Given the description of an element on the screen output the (x, y) to click on. 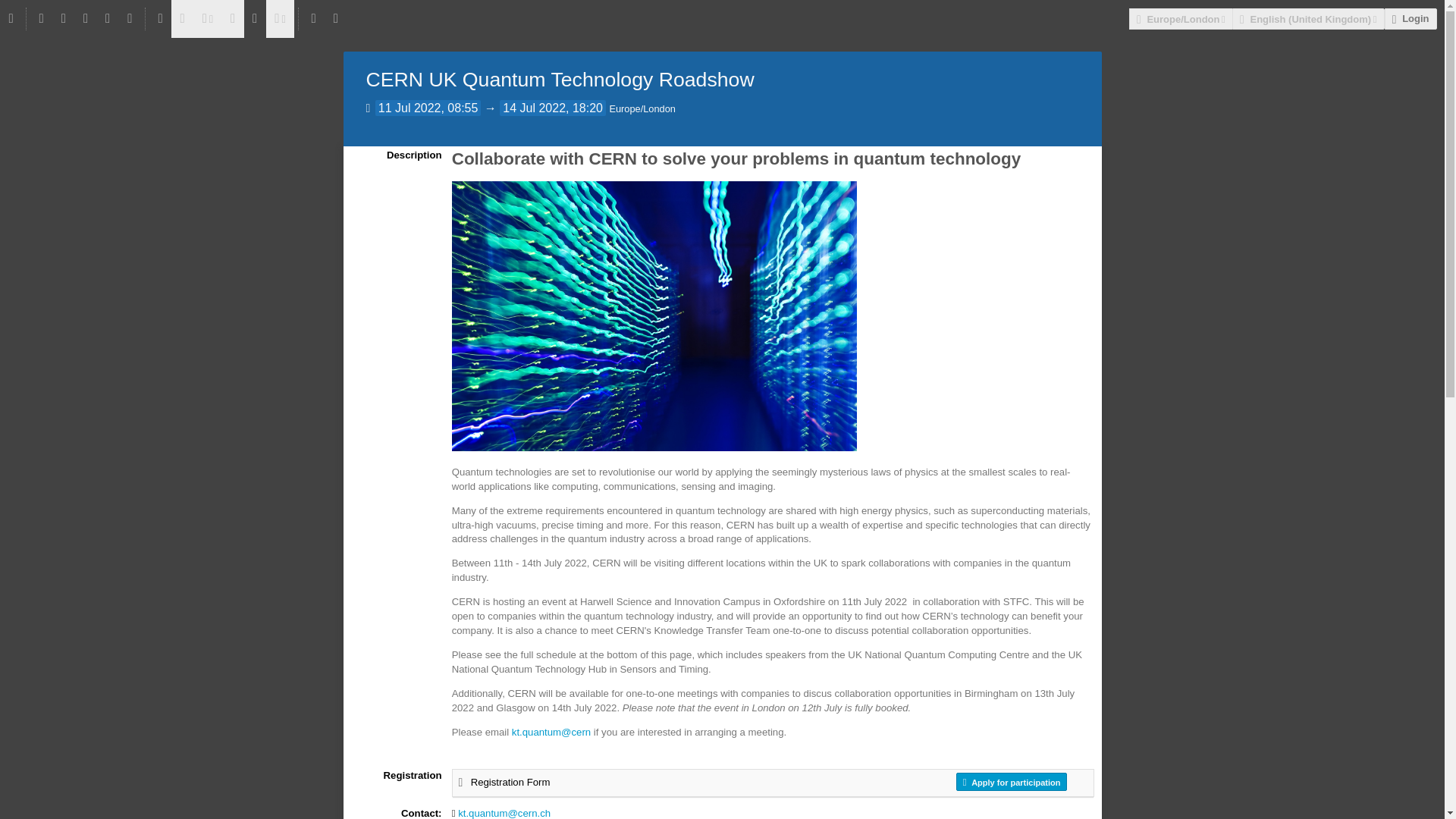
Login (1410, 19)
